Given the description of an element on the screen output the (x, y) to click on. 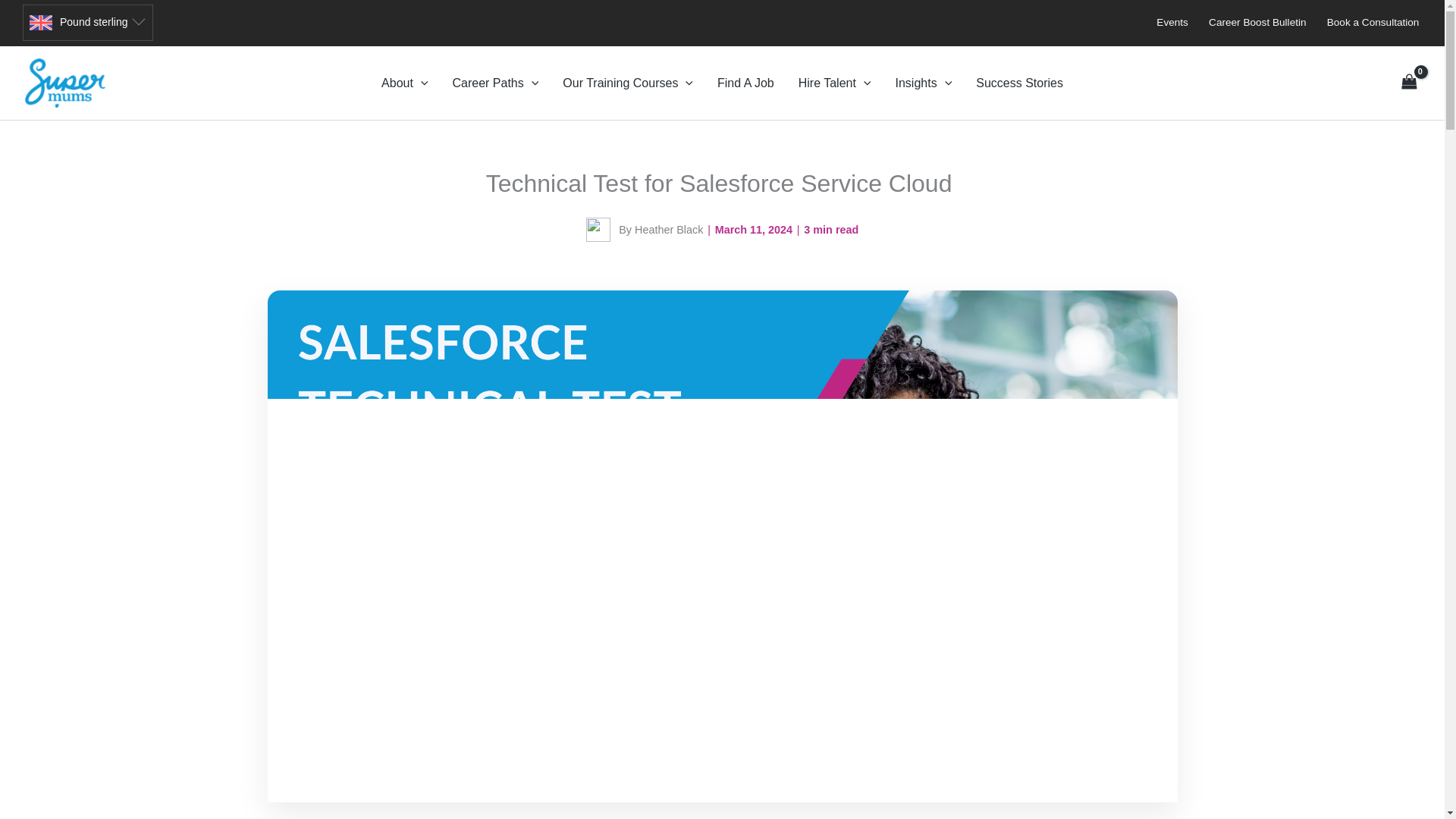
Career Boost Bulletin (1257, 22)
Events (1172, 22)
Find A Job (745, 83)
Hire Talent (834, 83)
About (404, 83)
Insights (922, 83)
Our Training Courses (627, 83)
Career Paths (494, 83)
Book a Consultation (1372, 22)
